Given the description of an element on the screen output the (x, y) to click on. 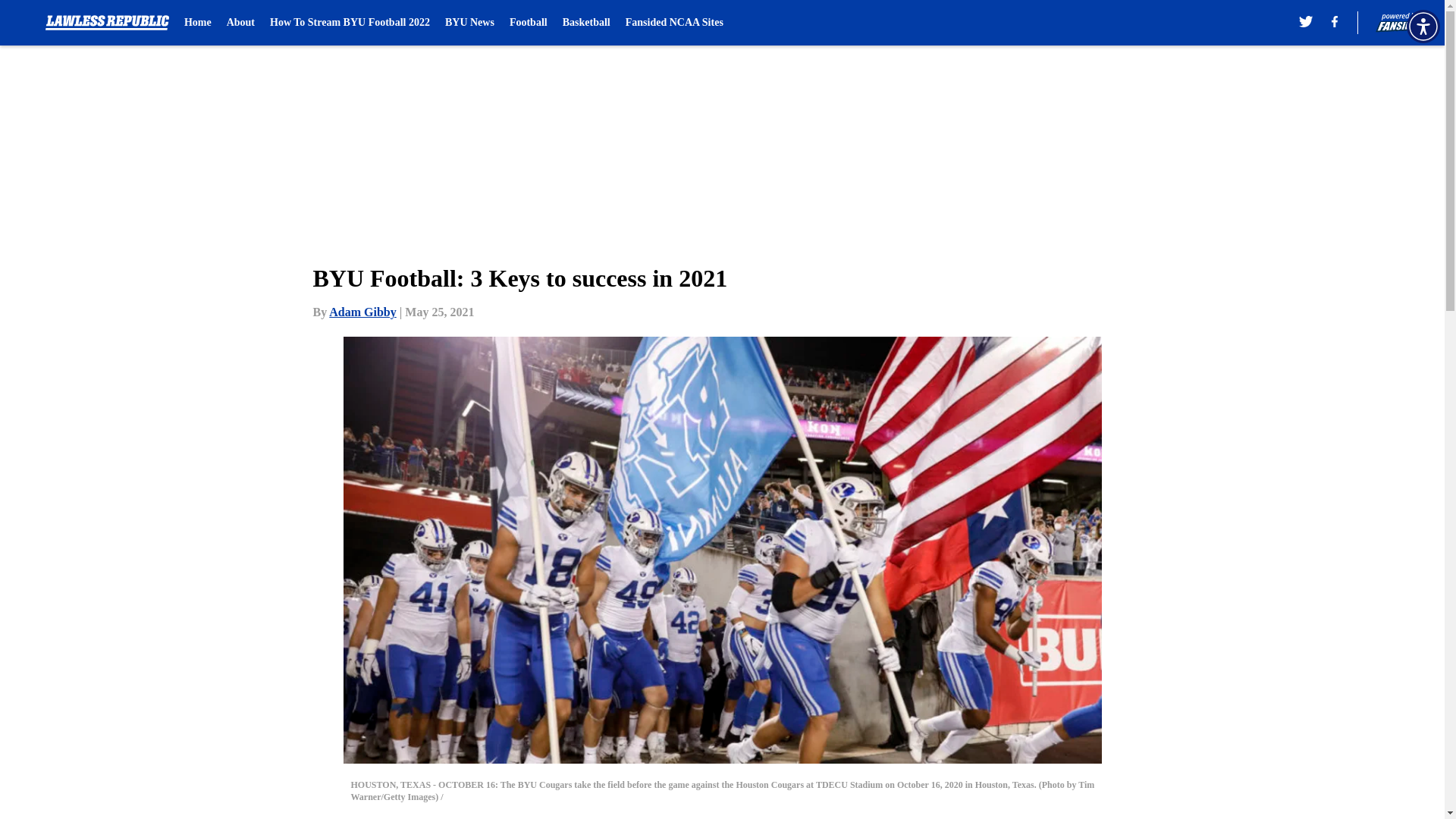
Basketball (586, 22)
How To Stream BYU Football 2022 (349, 22)
Football (528, 22)
Adam Gibby (362, 311)
Fansided NCAA Sites (674, 22)
BYU News (470, 22)
Accessibility Menu (1422, 26)
Home (197, 22)
About (240, 22)
